Given the description of an element on the screen output the (x, y) to click on. 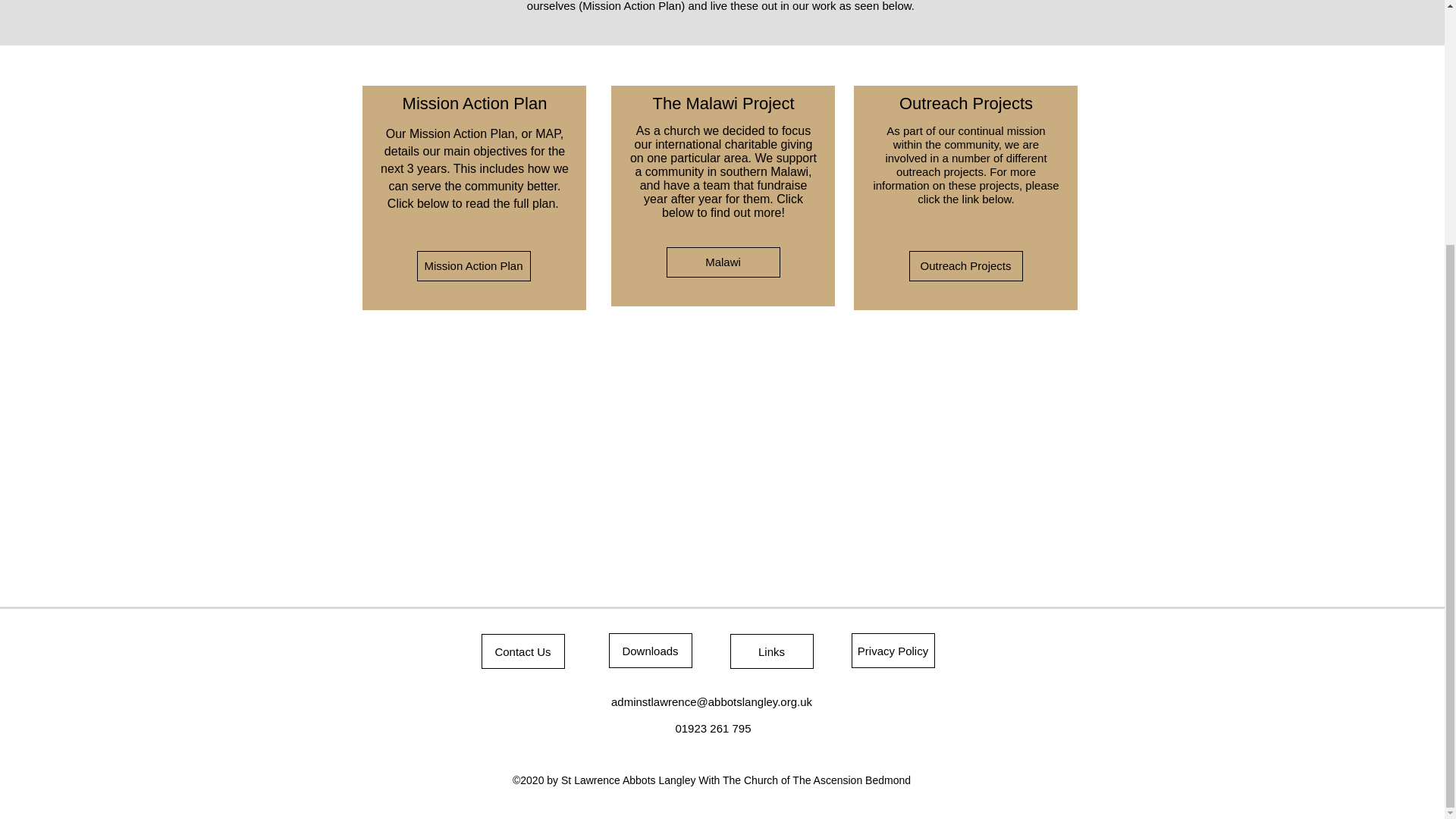
Privacy Policy (892, 650)
Malawi (721, 262)
Links (770, 651)
Outreach Projects (965, 265)
Downloads (649, 650)
Contact Us (522, 651)
Mission Action Plan (473, 265)
